Given the description of an element on the screen output the (x, y) to click on. 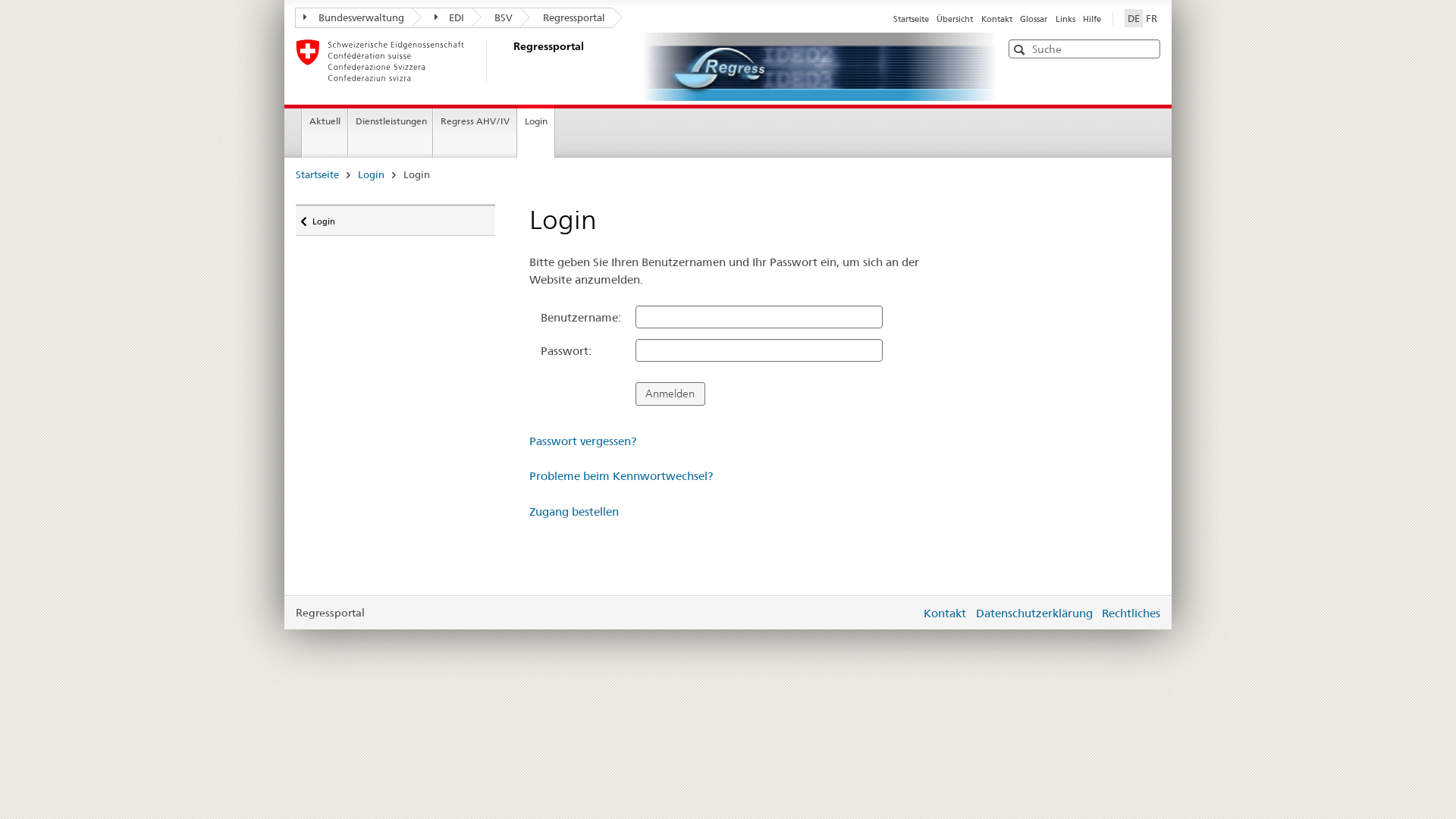
Login Element type: text (535, 130)
Back to
Login Element type: text (395, 219)
Regress AHV/IV Element type: text (474, 132)
BSV Element type: text (495, 17)
Regressportal Element type: text (565, 17)
EDI Element type: text (441, 17)
Startseite Element type: text (910, 18)
Regressportal Element type: text (511, 60)
Glossar Element type: text (1033, 18)
Probleme beim Kennwortwechsel? Element type: text (620, 475)
Aktuell Element type: text (324, 132)
Kontakt Element type: text (996, 18)
Bundesverwaltung Element type: text (352, 17)
Anmelden Element type: text (670, 393)
Hilfe Element type: text (1091, 18)
FR Element type: text (1151, 18)
Zugang bestellen Element type: text (573, 511)
Links Element type: text (1065, 18)
Suche Element type: text (1020, 49)
Passwort vergessen? Element type: text (582, 440)
Startseite Element type: text (316, 174)
DE Element type: text (1133, 18)
Kontakt Element type: text (944, 612)
Dienstleistungen Element type: text (390, 132)
Login Element type: text (370, 174)
Rechtliches Element type: text (1130, 612)
